Given the description of an element on the screen output the (x, y) to click on. 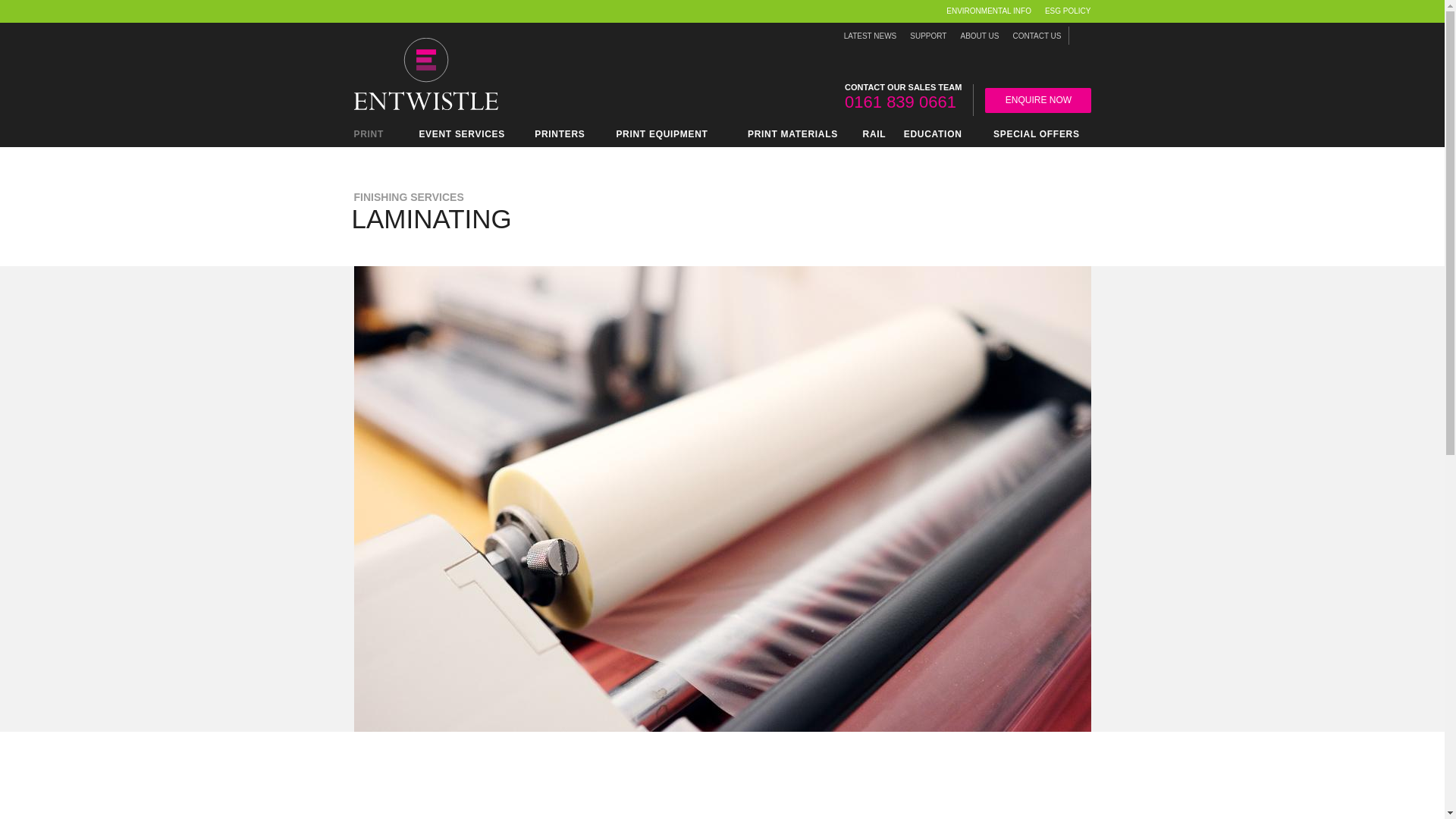
EVENT SERVICES (462, 136)
0161 839 0661 (900, 101)
PRINT (372, 136)
CONTACT US (1036, 35)
PRINT EQUIPMENT (661, 136)
ESG POLICY (1064, 10)
ABOUT US (978, 35)
ENVIRONMENTAL INFO (988, 10)
LATEST NEWS (870, 35)
ENQUIRE NOW (1037, 100)
